Given the description of an element on the screen output the (x, y) to click on. 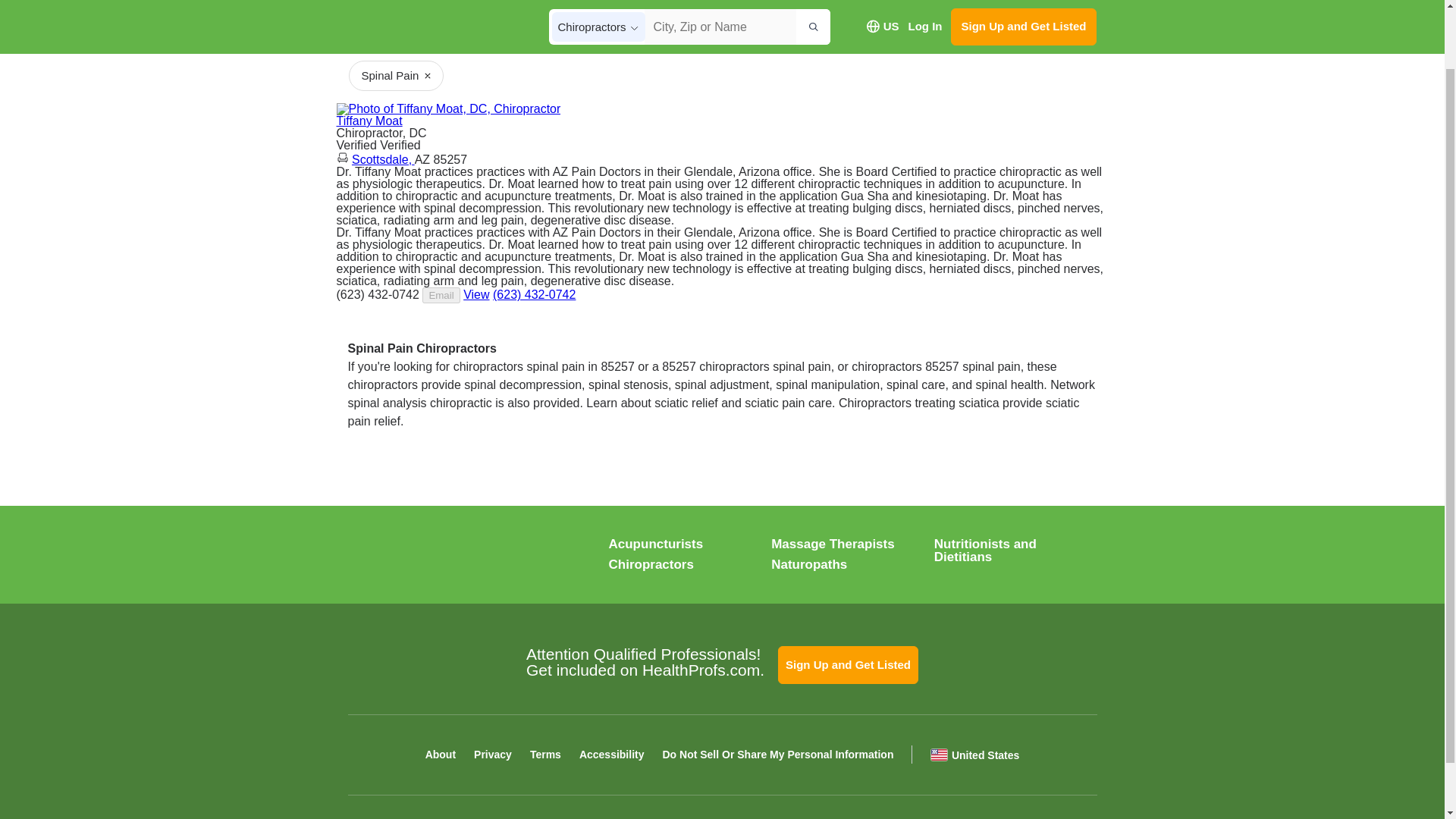
See full profile of Tiffany Moat, Scottsdale, Chiropractor (476, 294)
Send email to Tiffany Moat (441, 295)
Nutritionists and Dietitians (985, 550)
HealthProfs.com (440, 556)
Accessibility (612, 754)
Chiropractors in 85257 (444, 4)
Tiffany Moat (369, 120)
Start a new search for Chiropractors (360, 4)
Chiropractors in Arizona (398, 4)
Chiropractors (650, 564)
Spinal Pain (1043, 32)
View (396, 75)
See full profile of Tiffany Moat, Chiropractor Scottsdale (476, 294)
About (369, 120)
